Given the description of an element on the screen output the (x, y) to click on. 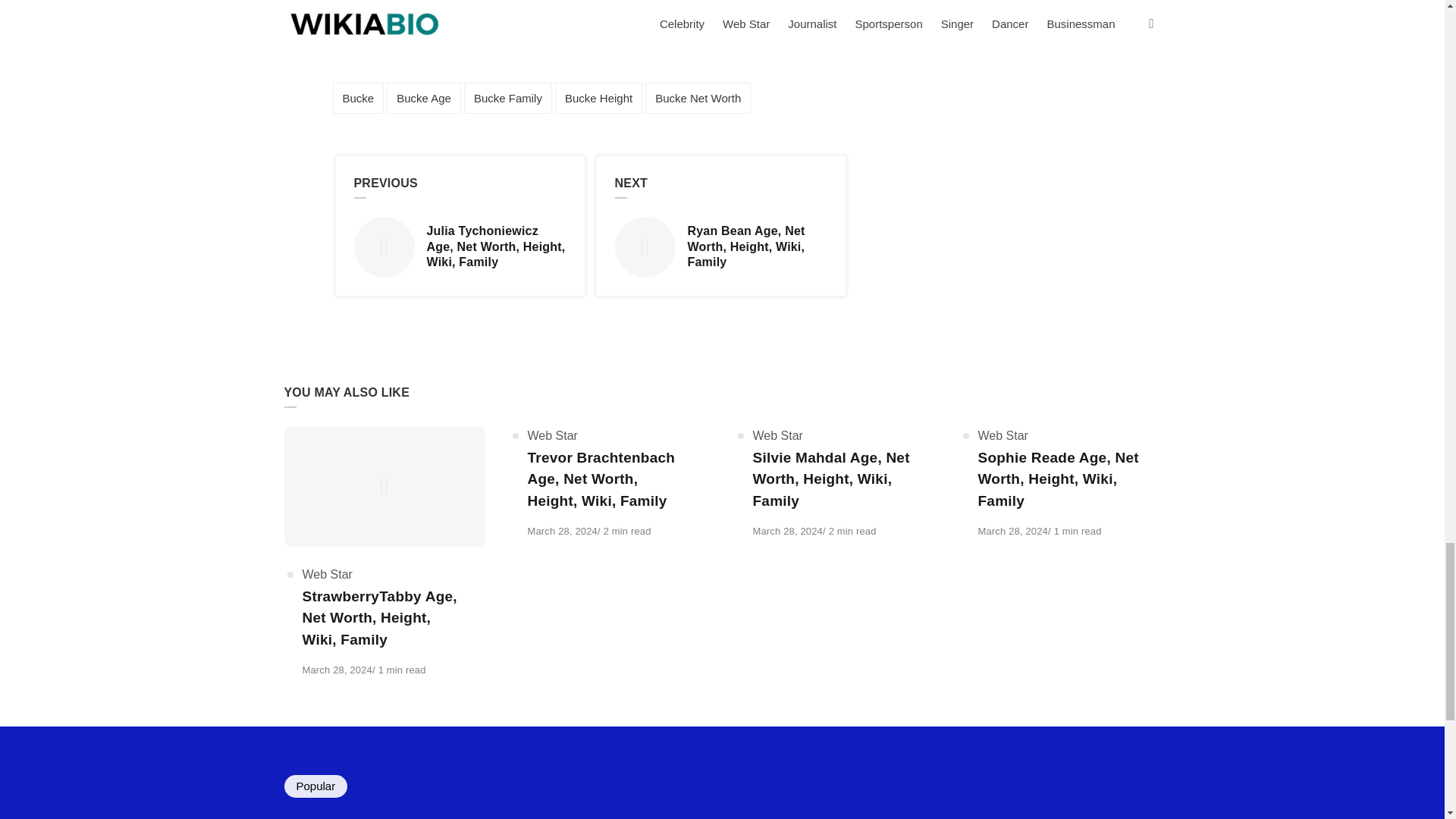
March 28, 2024 (561, 531)
March 28, 2024 (787, 531)
Bucke Age (424, 97)
Web Star (1002, 435)
March 28, 2024 (561, 531)
Bucke Height (598, 97)
Julia Tychoniewicz Age, Net Worth, Height, Wiki, Family (459, 247)
Web Star (777, 435)
March 28, 2024 (1013, 531)
Bucke Net Worth (698, 97)
